Given the description of an element on the screen output the (x, y) to click on. 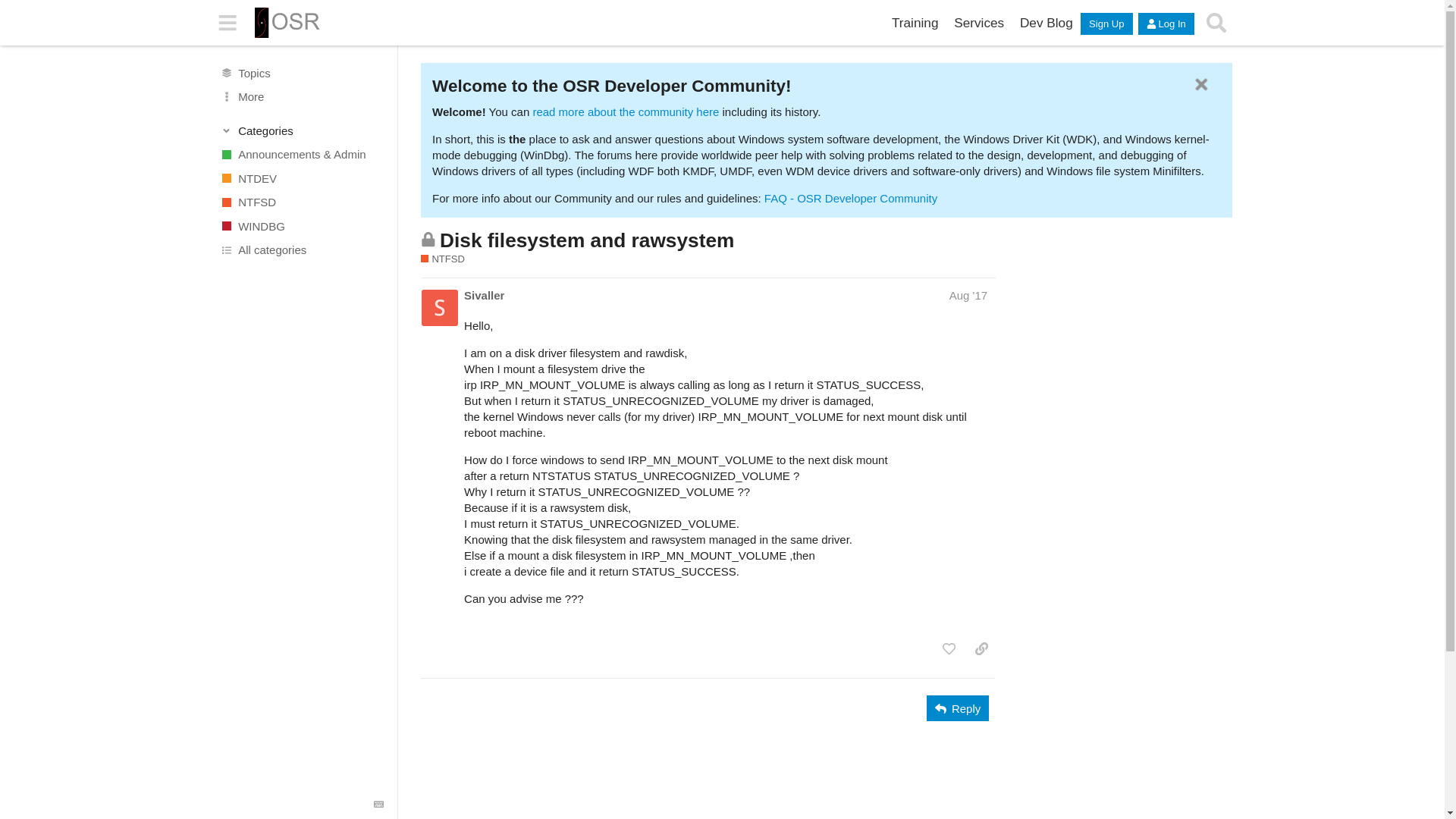
info about professional services offered by OSR (978, 22)
Reply (957, 708)
Toggle section (301, 130)
Topics (301, 72)
notes on Windows software development (1046, 22)
Sidebar (227, 22)
Sivaller (483, 295)
WINDBG (301, 225)
This topic is closed; it no longer accepts new replies (427, 238)
Sign Up (1106, 24)
NTDEV (301, 178)
Search (1215, 22)
Log In (1165, 24)
NTFSD (442, 259)
Post date (968, 295)
